Given the description of an element on the screen output the (x, y) to click on. 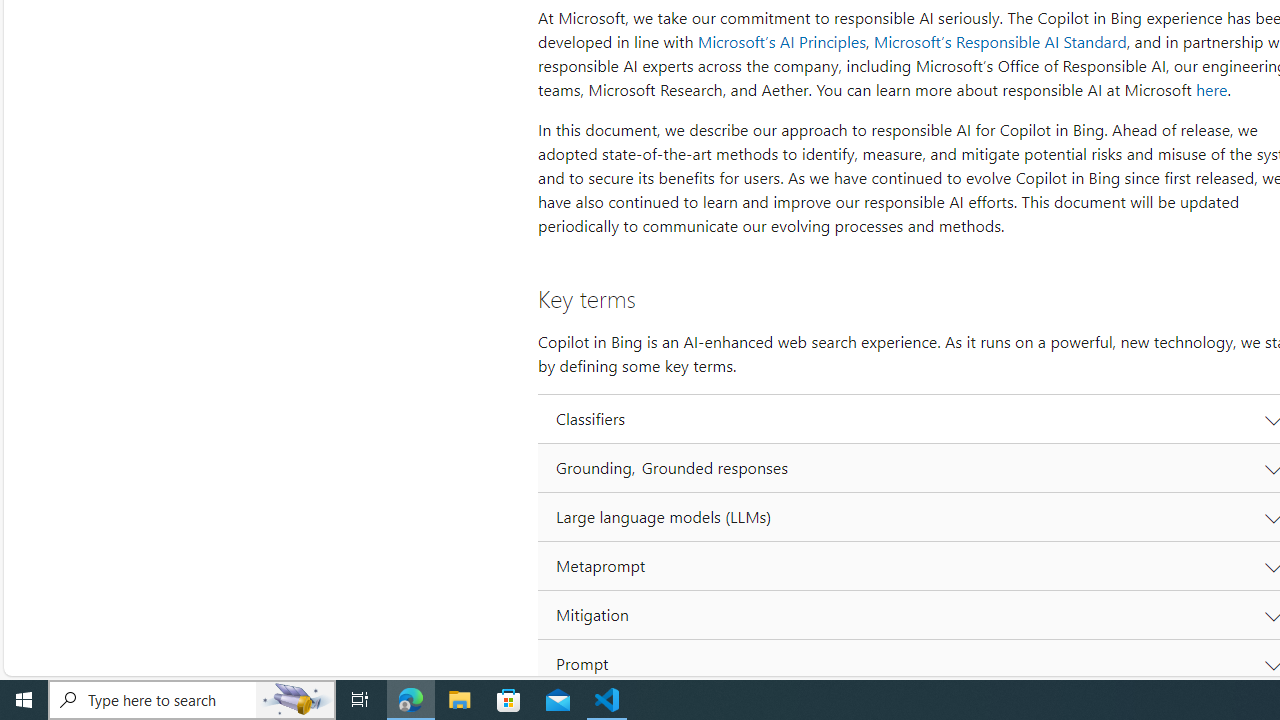
here (1211, 89)
